Given the description of an element on the screen output the (x, y) to click on. 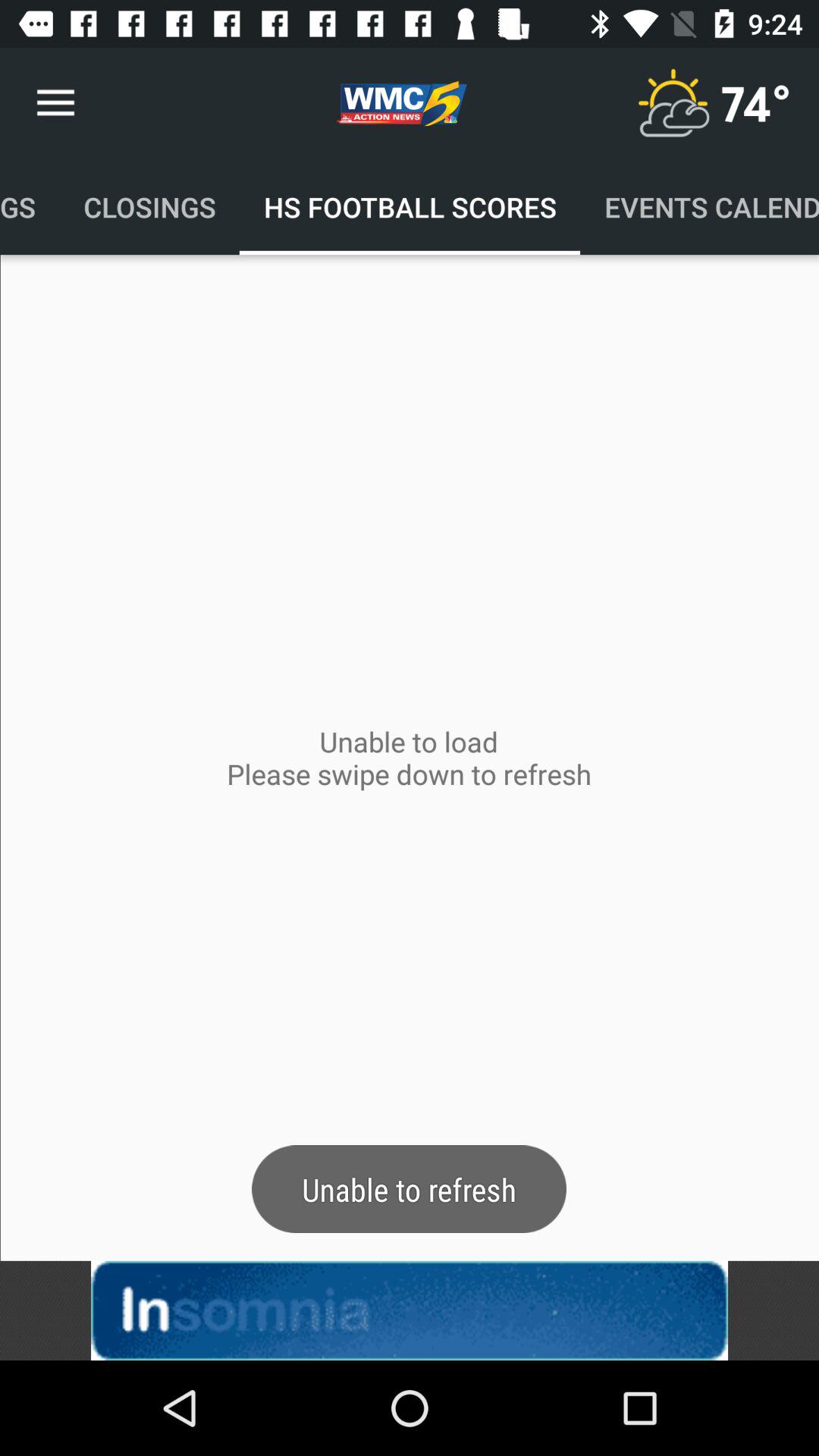
linked button (409, 1310)
